Given the description of an element on the screen output the (x, y) to click on. 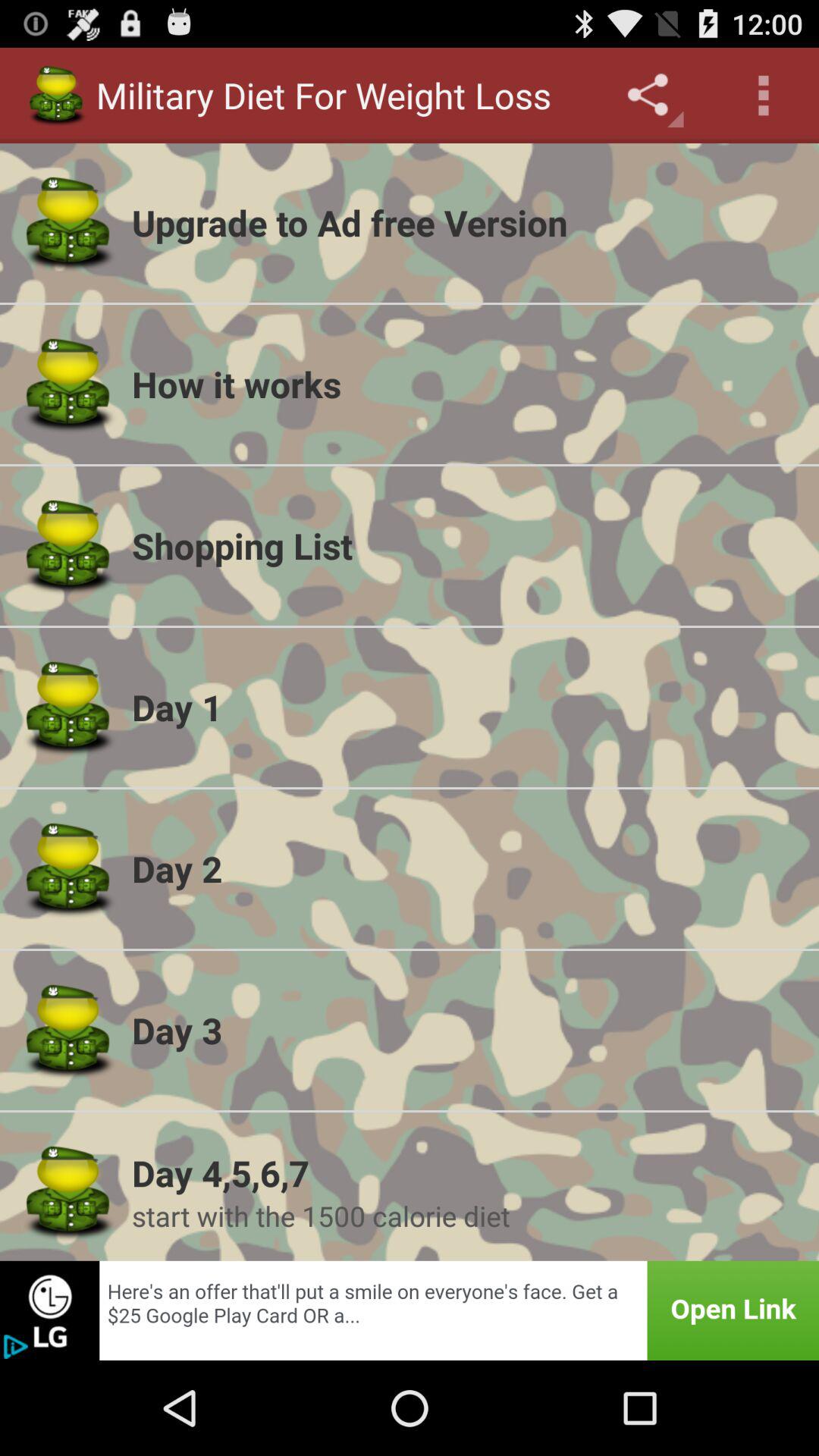
launch item above the start with the icon (465, 1172)
